Given the description of an element on the screen output the (x, y) to click on. 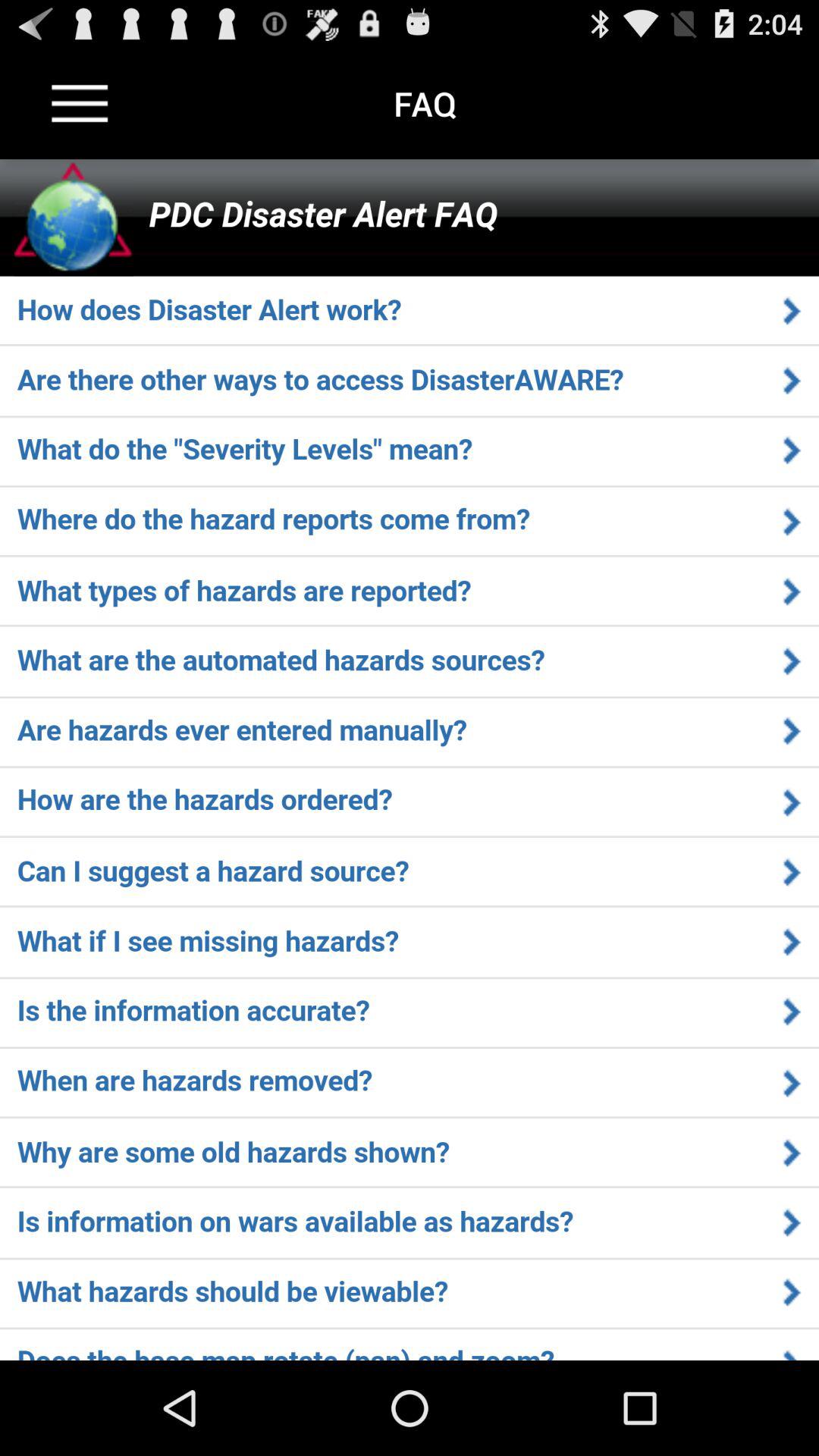
main window (409, 759)
